Given the description of an element on the screen output the (x, y) to click on. 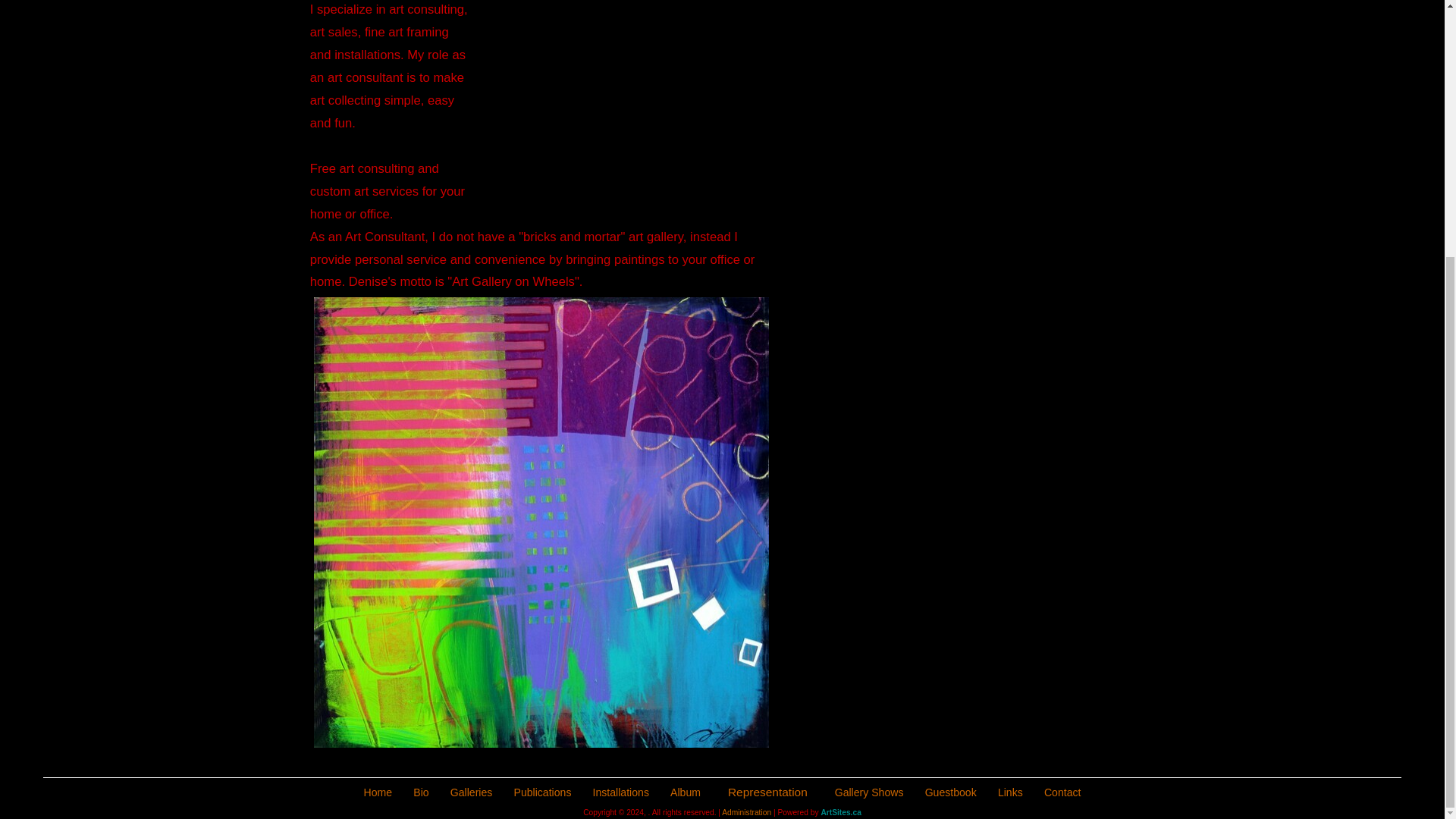
Installations (620, 792)
Contact (1062, 792)
Administration (746, 812)
Bio (420, 792)
Gallery Shows (869, 792)
Links (1010, 792)
Publications (542, 792)
ArtSites.ca (840, 812)
Album (684, 792)
Galleries (471, 792)
